Given the description of an element on the screen output the (x, y) to click on. 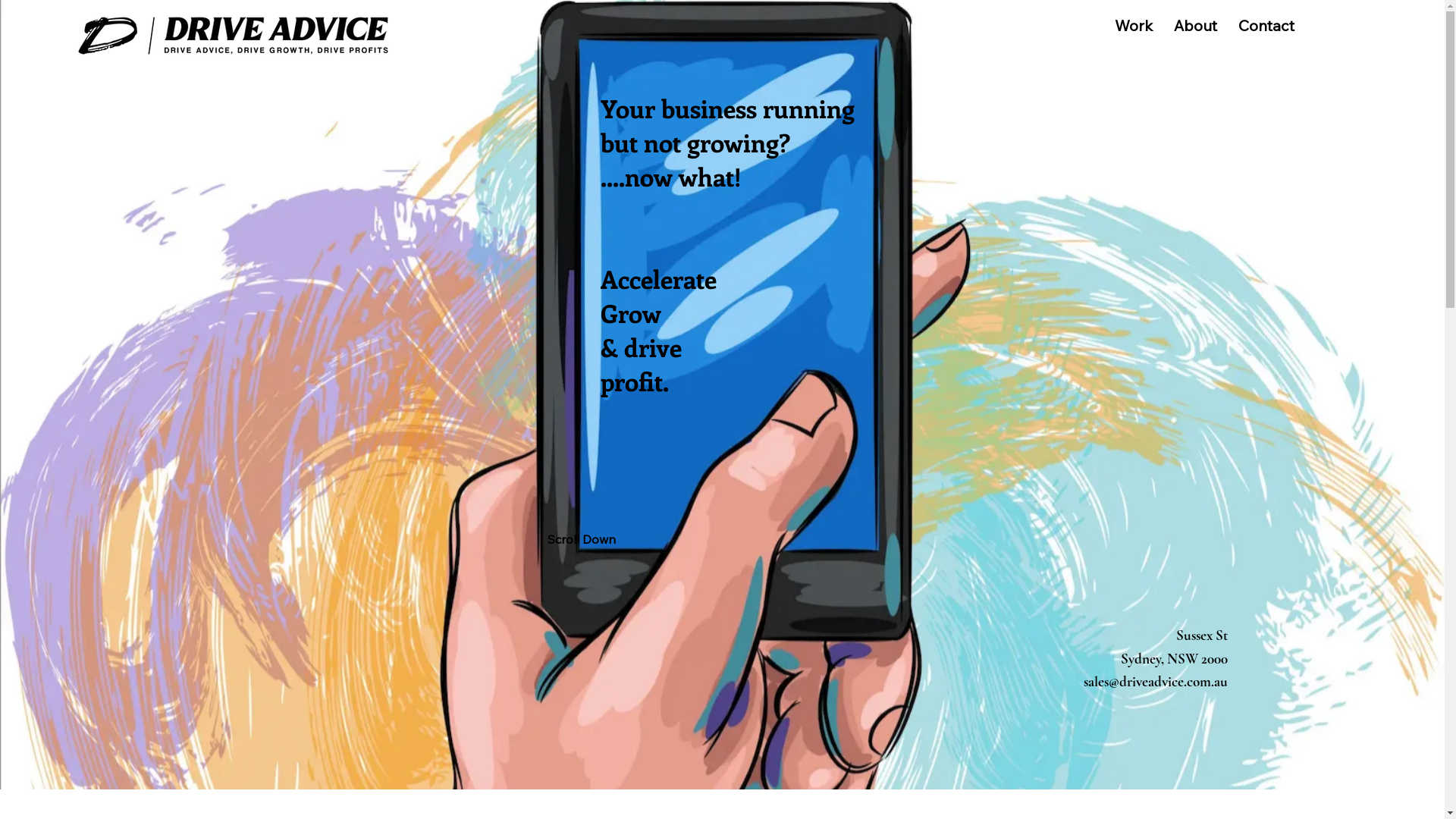
About Element type: text (1195, 25)
Work Element type: text (1133, 25)
sales@driveadvice.com.au Element type: text (1155, 681)
Scroll Down Element type: text (579, 539)
Contact Element type: text (1266, 25)
